Given the description of an element on the screen output the (x, y) to click on. 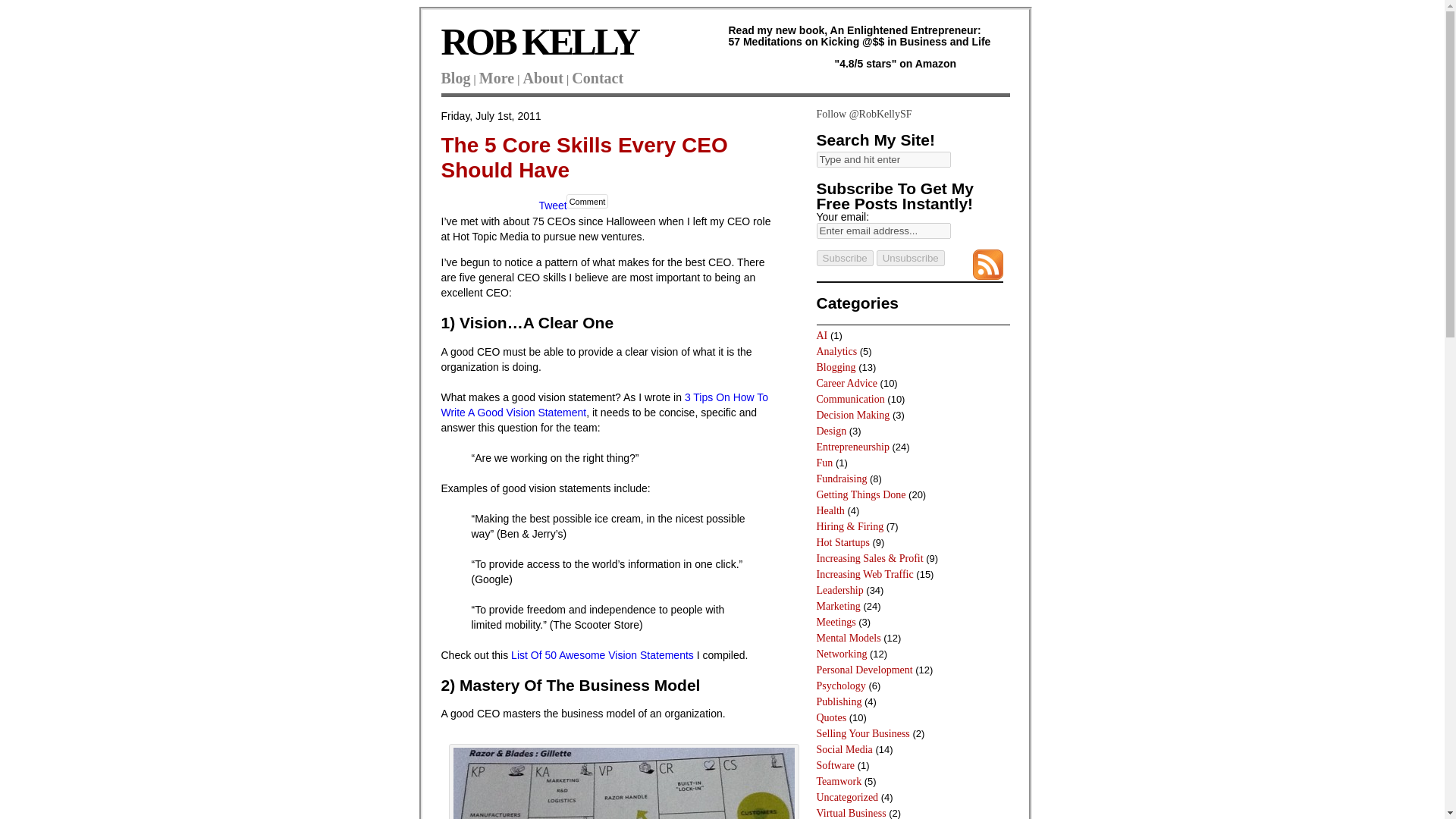
Blog (455, 77)
Leadership (839, 589)
Tweet (552, 205)
Decision Making (852, 414)
Enter email address... (882, 230)
Meetings (835, 621)
Networking (840, 653)
List Of 50 Awesome Vision Statements (602, 654)
Fundraising (840, 478)
ROB KELLY (540, 41)
Getting Things Done (860, 493)
Communication (849, 398)
Hot Startups (842, 542)
Increasing Web Traffic (863, 573)
Blogging (835, 366)
